Given the description of an element on the screen output the (x, y) to click on. 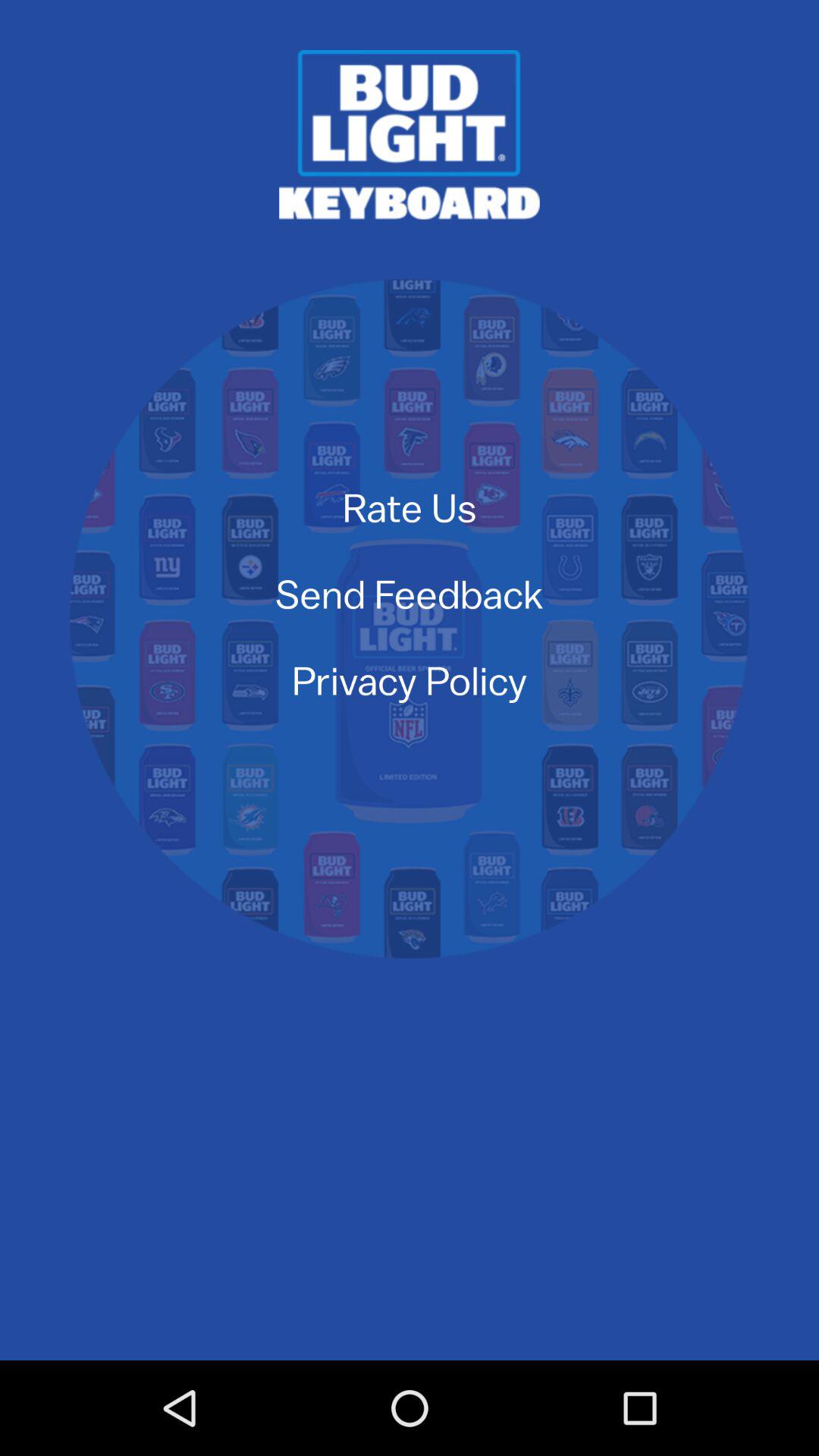
launch the privacy policy item (409, 679)
